Given the description of an element on the screen output the (x, y) to click on. 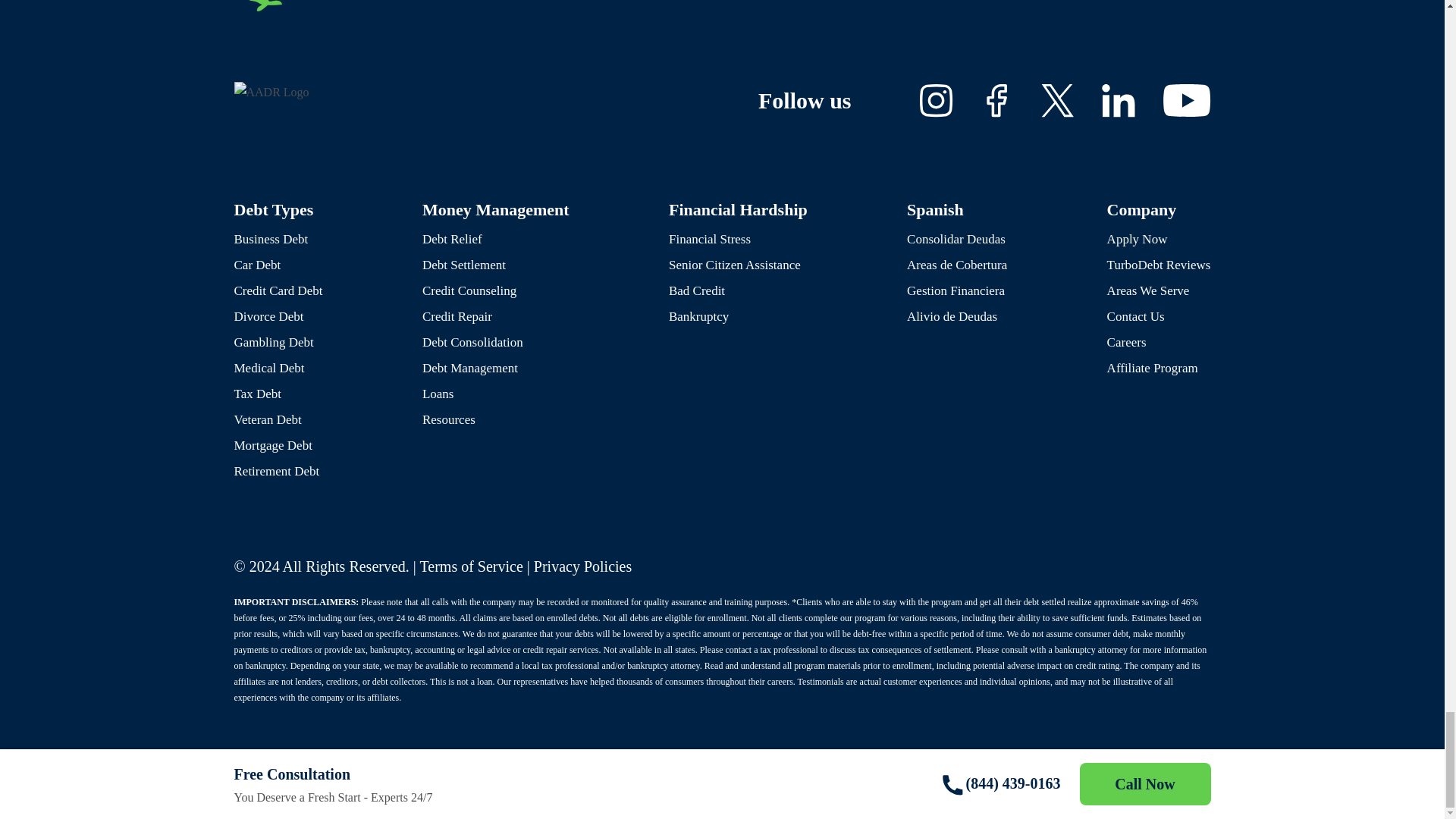
AADR Logo (270, 92)
TurboDebt Logo (387, 5)
